Given the description of an element on the screen output the (x, y) to click on. 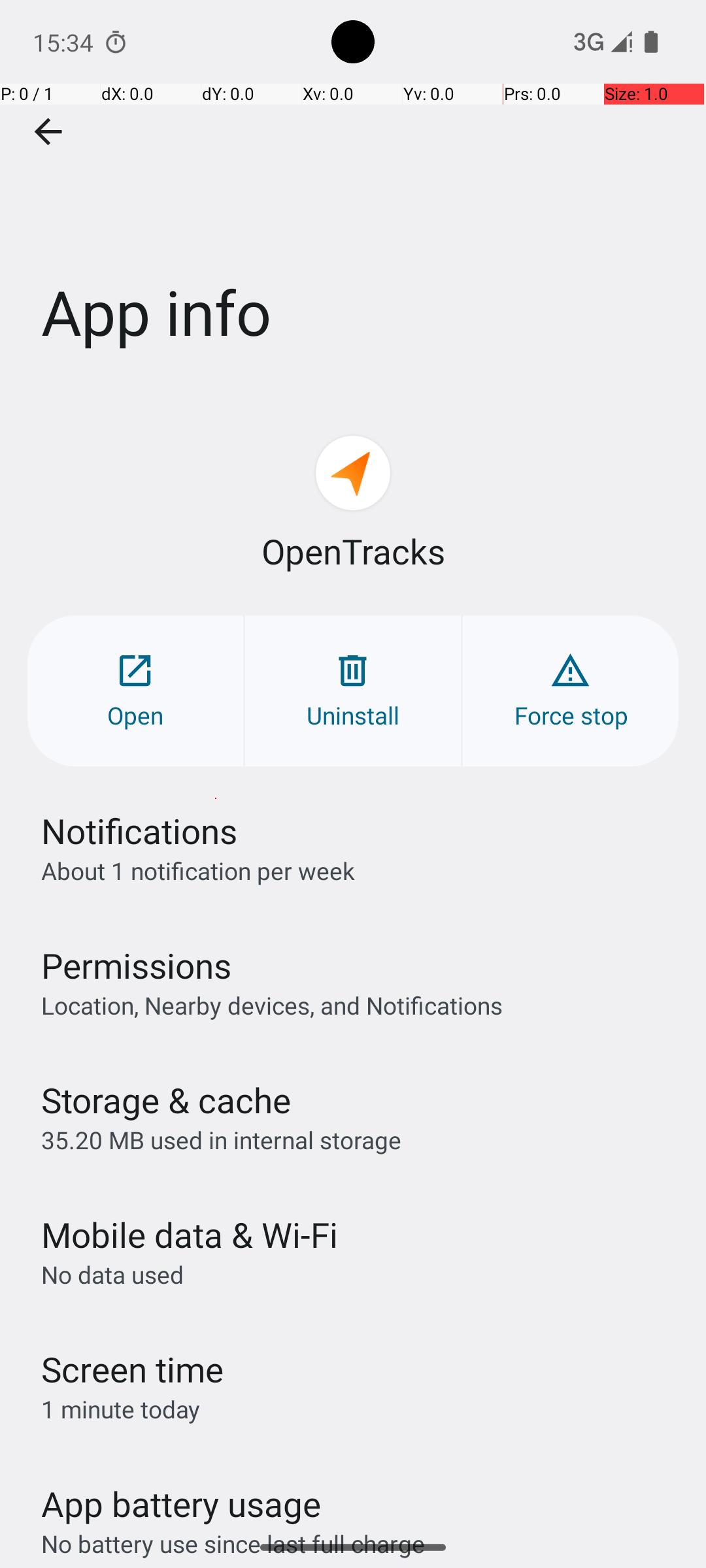
About 1 notification per week Element type: android.widget.TextView (197, 870)
Location, Nearby devices, and Notifications Element type: android.widget.TextView (271, 1004)
35.20 MB used in internal storage Element type: android.widget.TextView (221, 1139)
1 minute today Element type: android.widget.TextView (120, 1408)
